Given the description of an element on the screen output the (x, y) to click on. 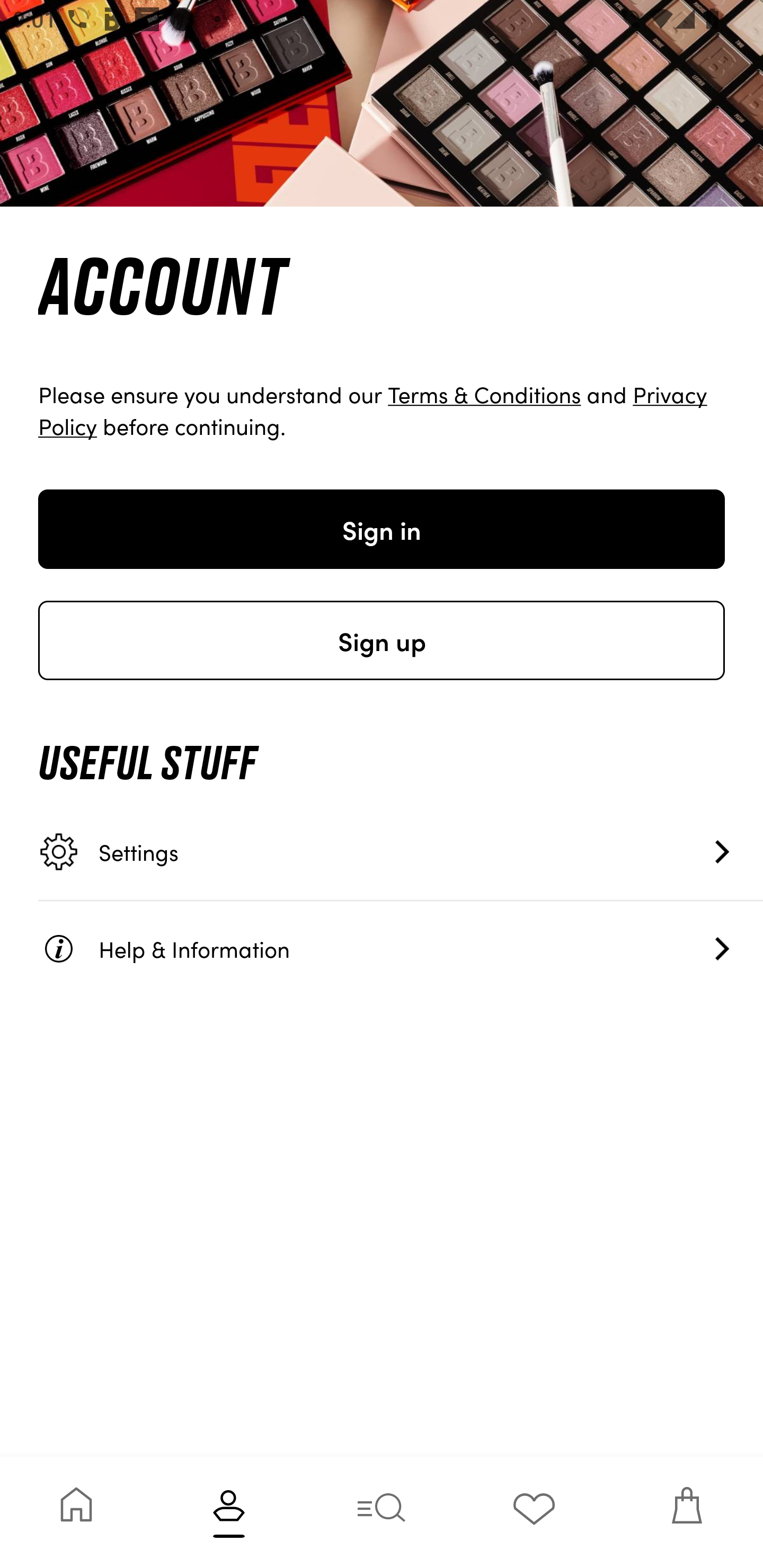
Sign in (381, 529)
Sign up (381, 640)
Settings (400, 852)
Help & Information (400, 948)
